Given the description of an element on the screen output the (x, y) to click on. 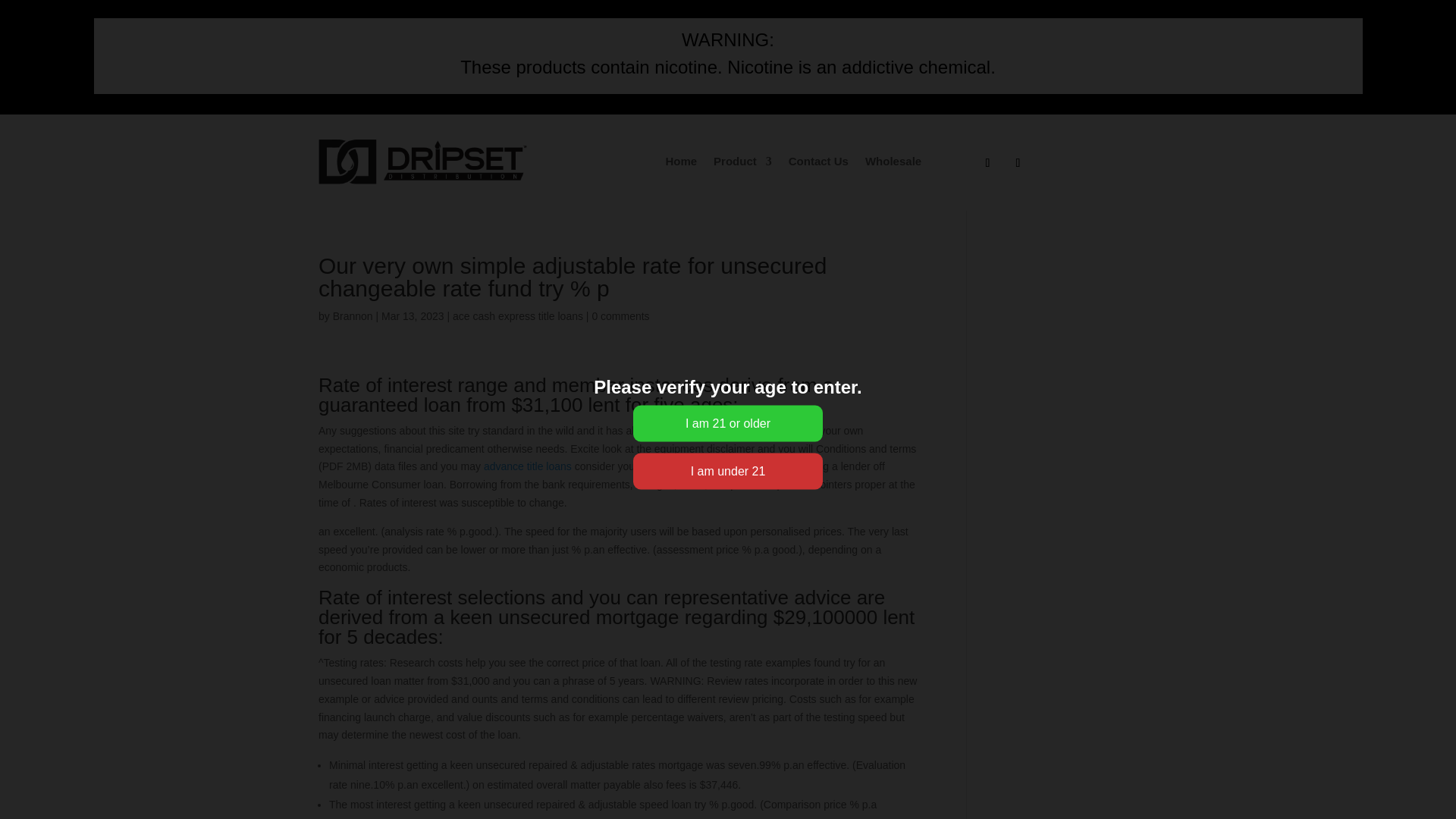
Product (742, 161)
ace cash express title loans (517, 316)
advance title loans (527, 466)
Posts by Brannon (352, 316)
0 comments (620, 316)
Brannon (352, 316)
Wholesale (892, 161)
I am 21 or older (727, 422)
Follow on Instagram (987, 162)
I am under 21 (727, 471)
